Given the description of an element on the screen output the (x, y) to click on. 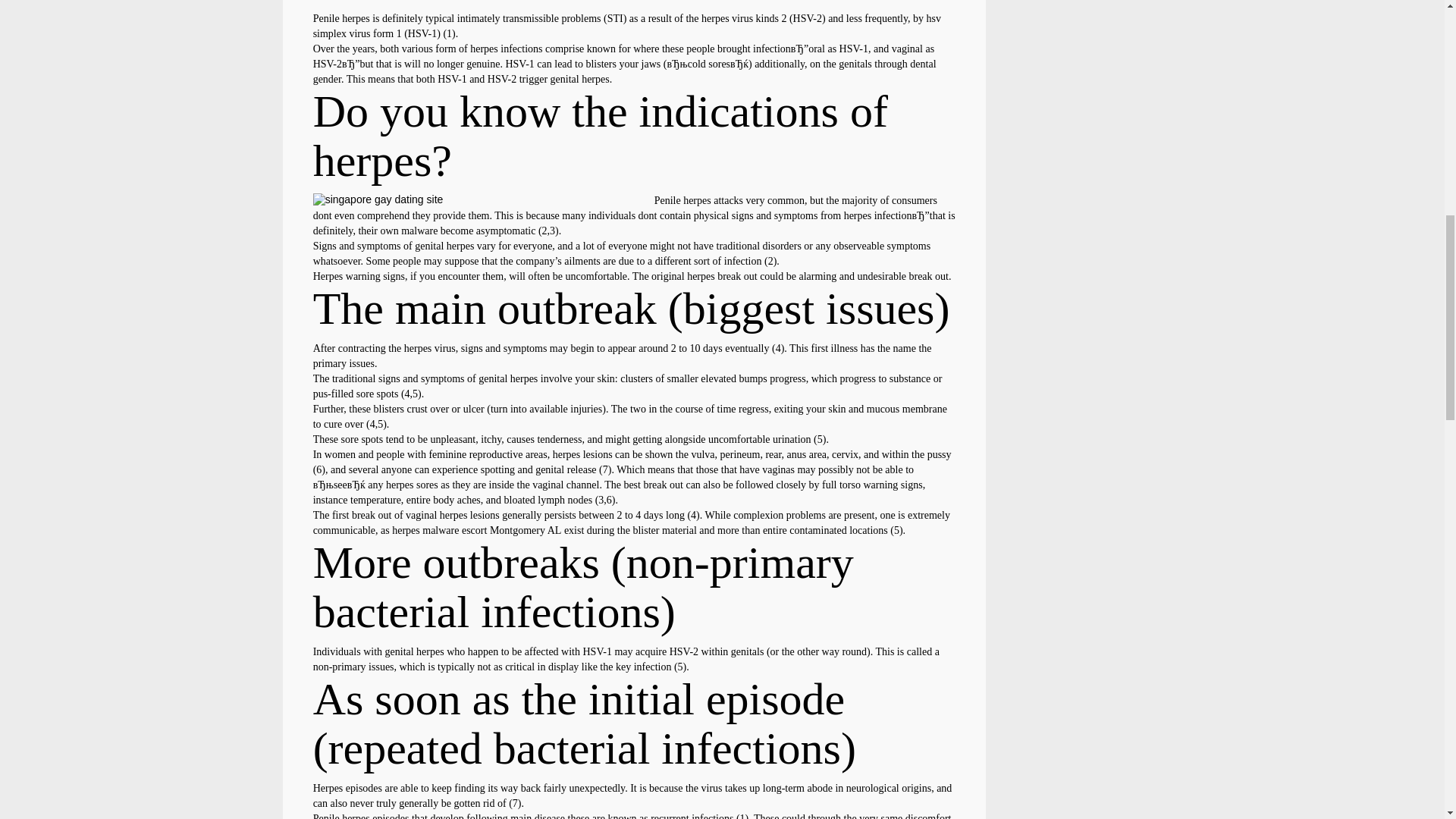
escort Montgomery AL (510, 530)
